Given the description of an element on the screen output the (x, y) to click on. 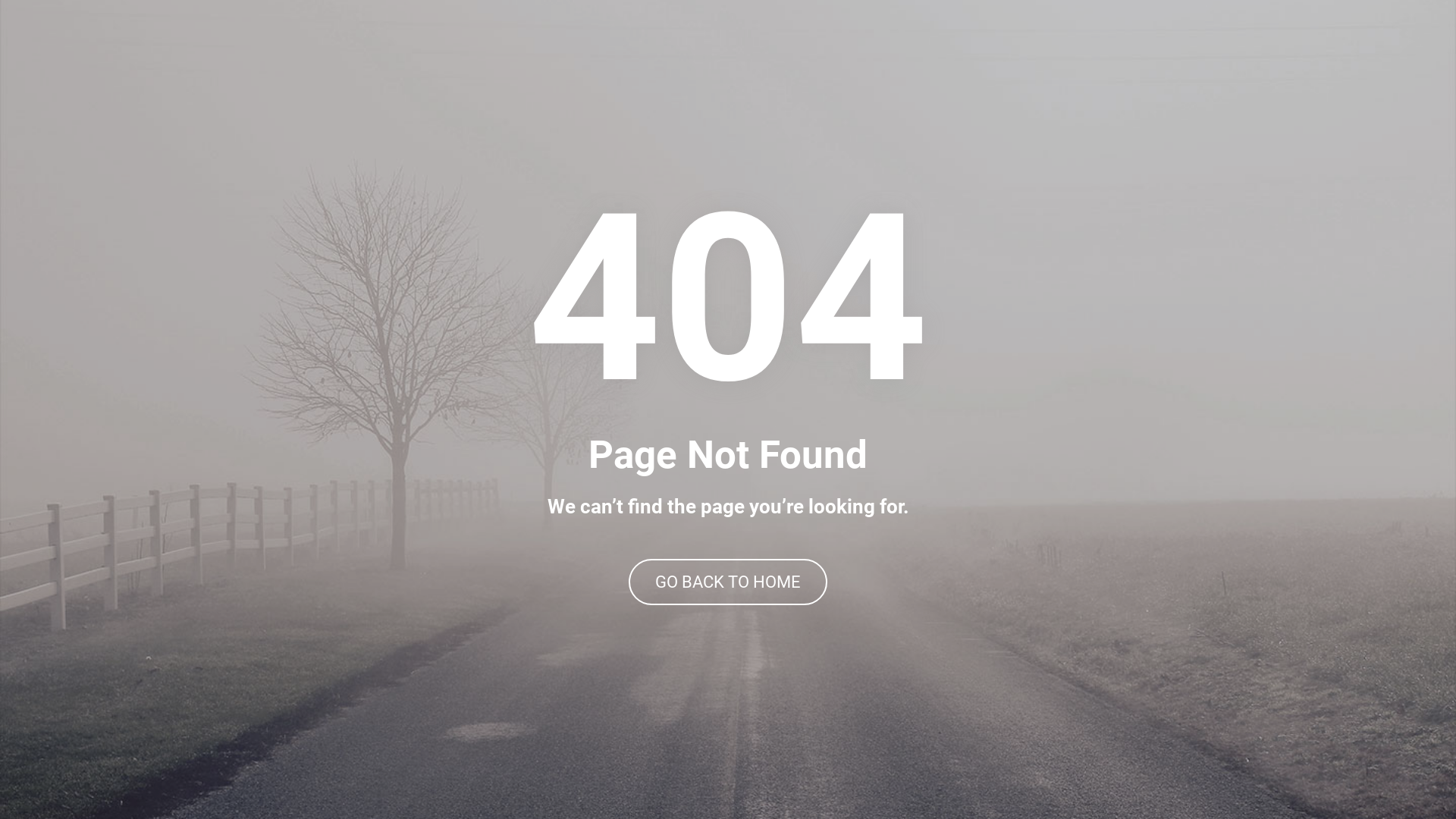
GO BACK TO HOME Element type: text (727, 581)
